Given the description of an element on the screen output the (x, y) to click on. 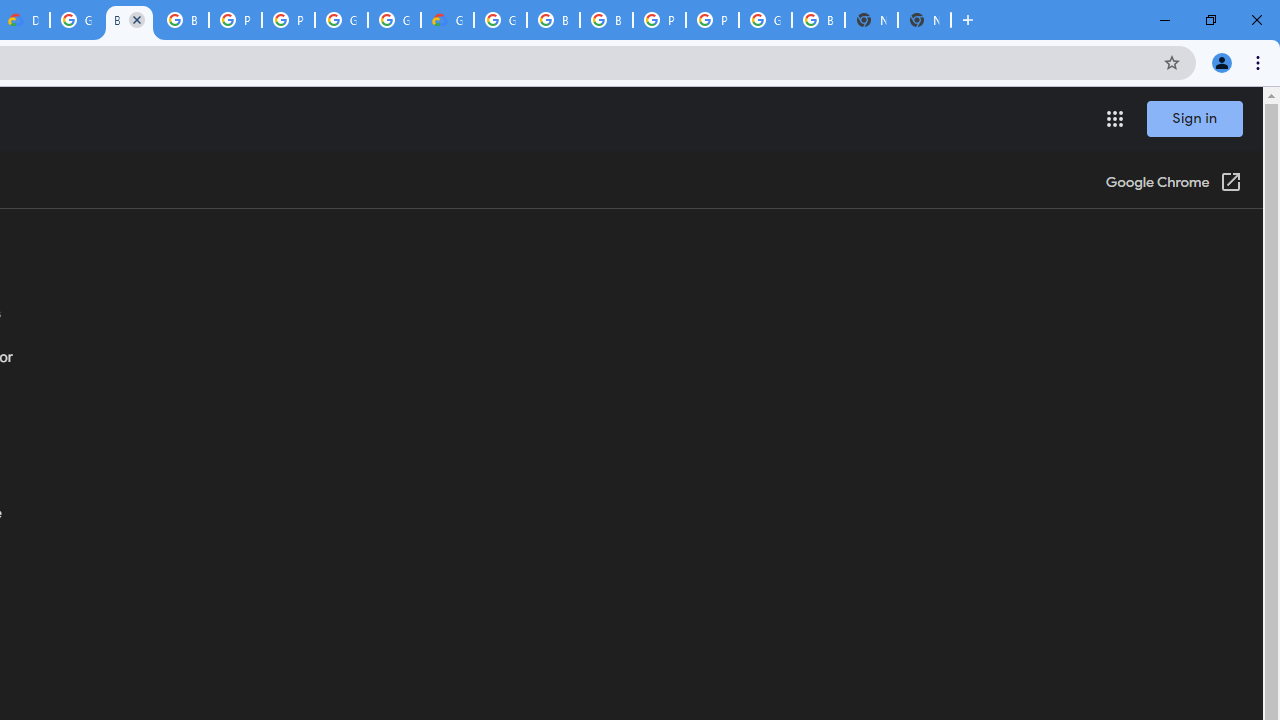
Google Cloud Platform (500, 20)
Google Cloud Estimate Summary (447, 20)
Google Cloud Platform (341, 20)
Google Cloud Platform (394, 20)
Browse Chrome as a guest - Computer - Google Chrome Help (553, 20)
